Given the description of an element on the screen output the (x, y) to click on. 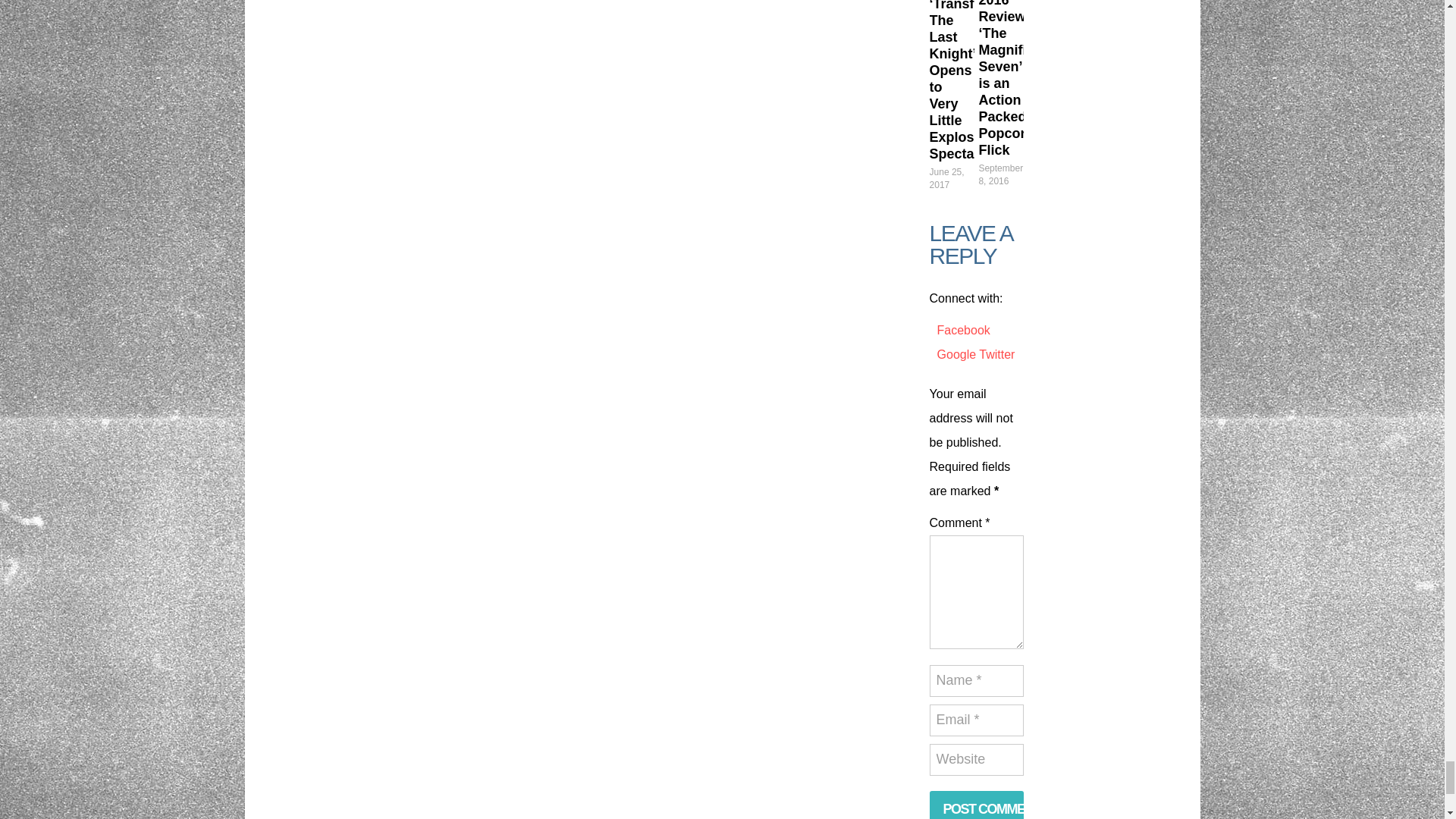
Post Comment (977, 805)
